Given the description of an element on the screen output the (x, y) to click on. 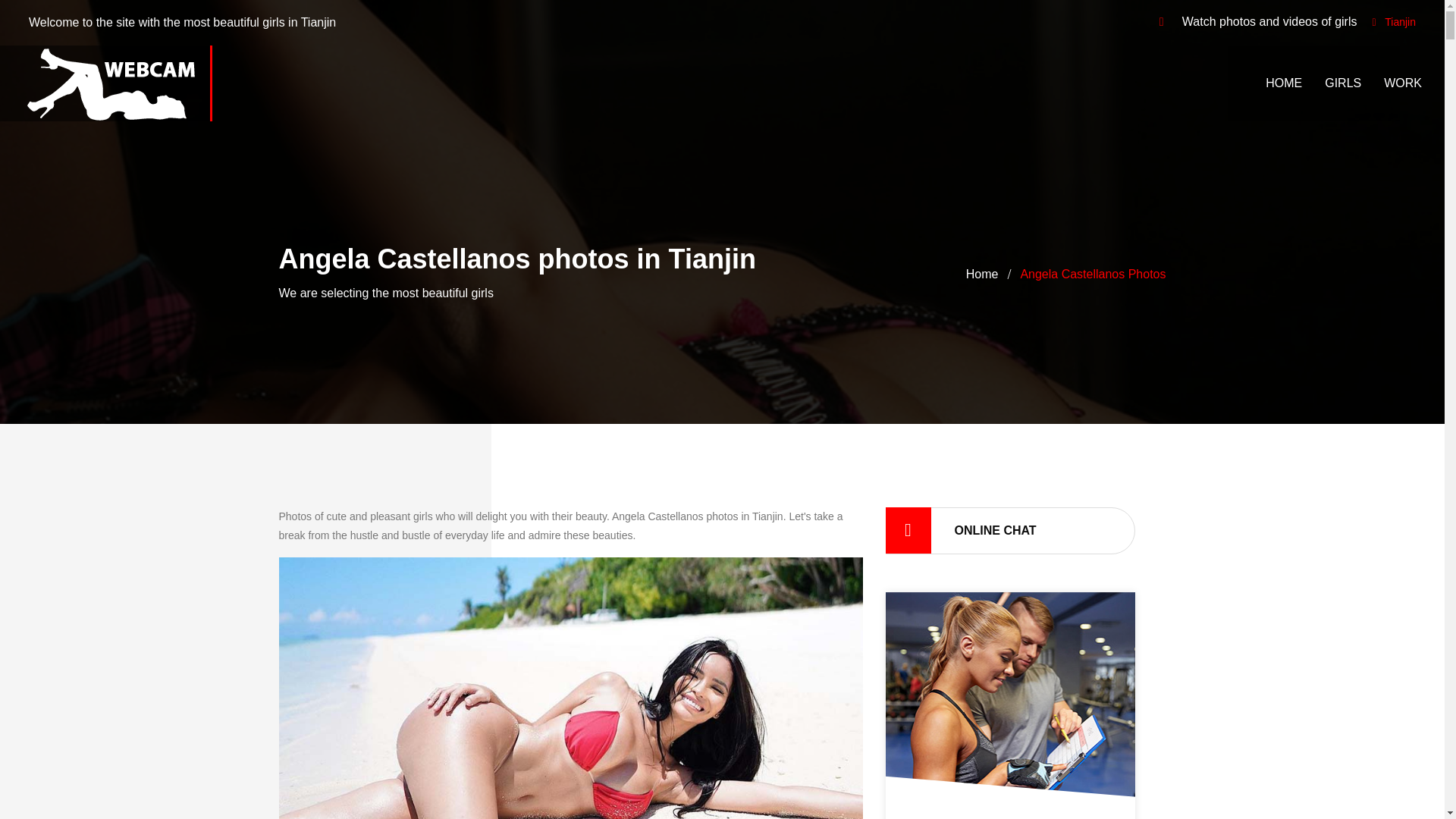
Watch photos and videos of girls  (109, 83)
Tianjin (1399, 21)
